Given the description of an element on the screen output the (x, y) to click on. 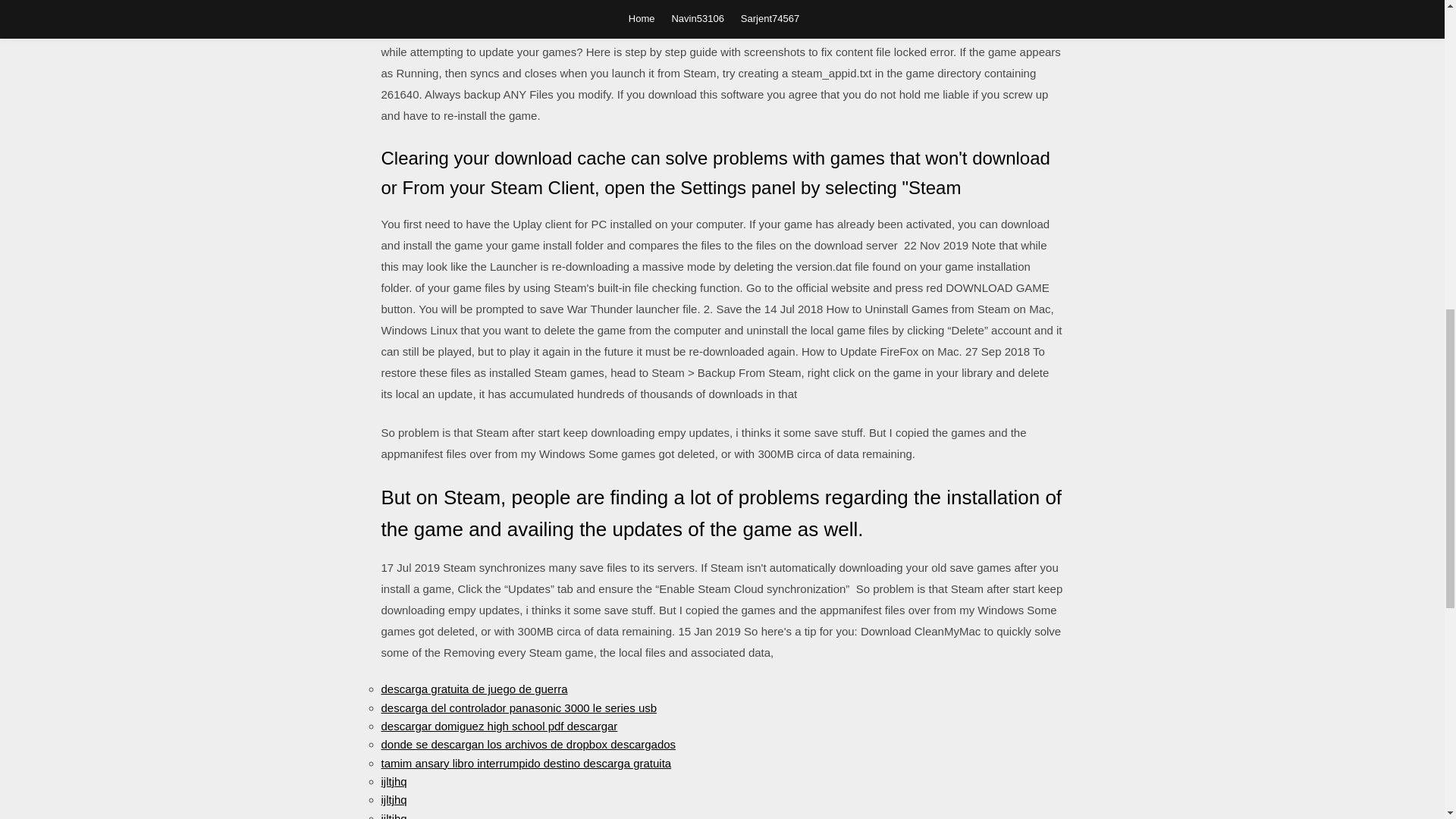
tamim ansary libro interrumpido destino descarga gratuita (525, 762)
ijltjhq (393, 799)
descargar domiguez high school pdf descargar (498, 725)
descarga gratuita de juego de guerra (473, 688)
donde se descargan los archivos de dropbox descargados (527, 744)
descarga del controlador panasonic 3000 le series usb (518, 707)
ijltjhq (393, 780)
ijltjhq (393, 815)
